Given the description of an element on the screen output the (x, y) to click on. 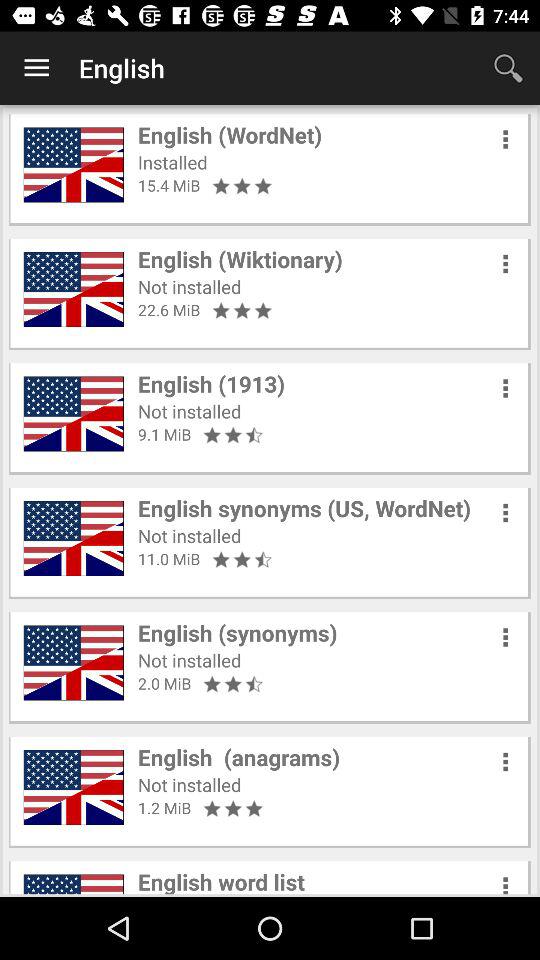
open the icon next to english app (508, 67)
